Given the description of an element on the screen output the (x, y) to click on. 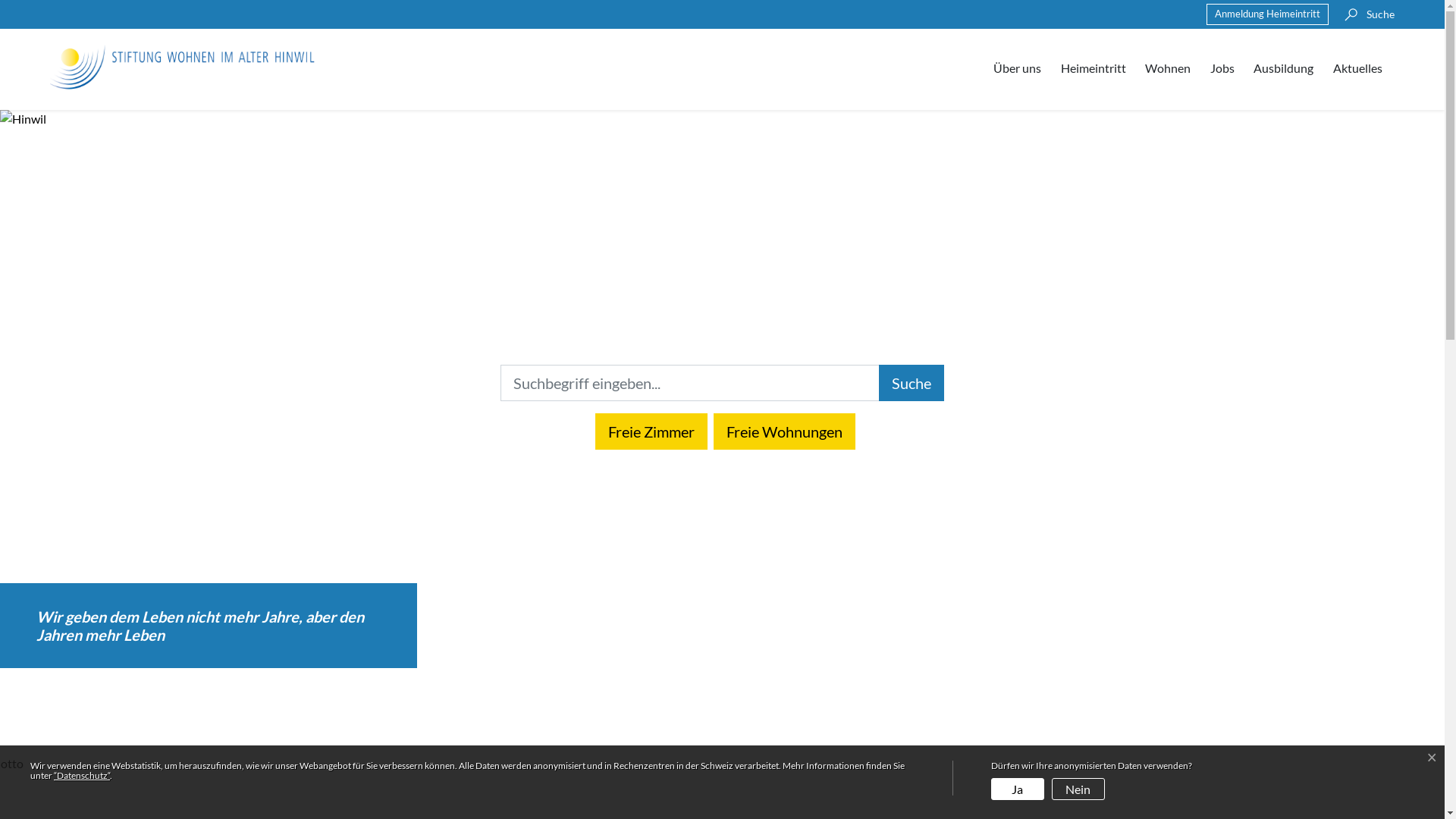
Anmeldung Heimeintritt Element type: text (1267, 14)
Wohnen Element type: text (1167, 67)
Jobs Element type: text (1222, 67)
Freie Zimmer Element type: text (651, 431)
Freie Wohnungen Element type: text (784, 431)
Stiftung Wohnen im Alter Hinwil Element type: text (182, 67)
Aktuelles Element type: text (1358, 67)
Heimeintritt Element type: text (1093, 67)
Suche Element type: text (1365, 14)
Ja Element type: text (1017, 777)
Suche Element type: text (911, 382)
Nein Element type: text (1077, 777)
Ausbildung Element type: text (1284, 67)
